Given the description of an element on the screen output the (x, y) to click on. 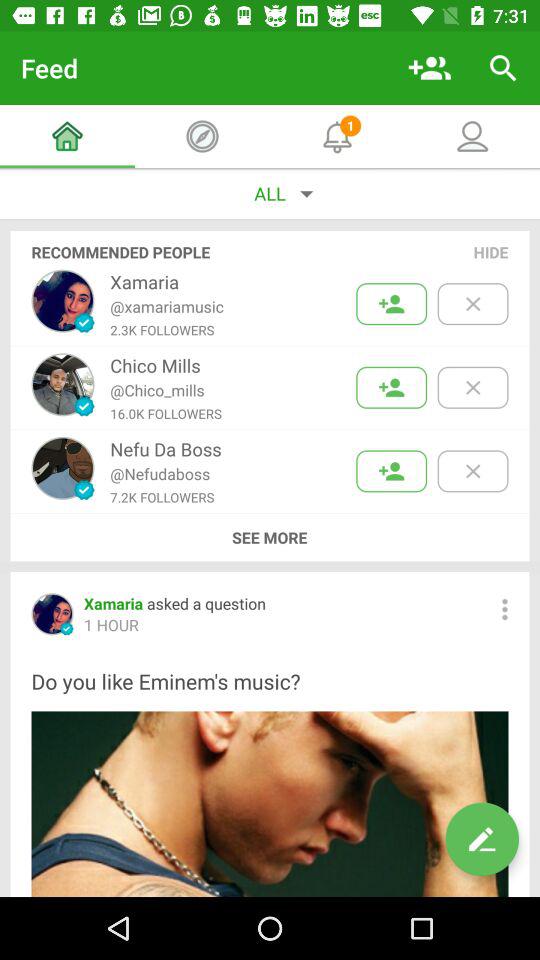
hide this person (472, 303)
